Given the description of an element on the screen output the (x, y) to click on. 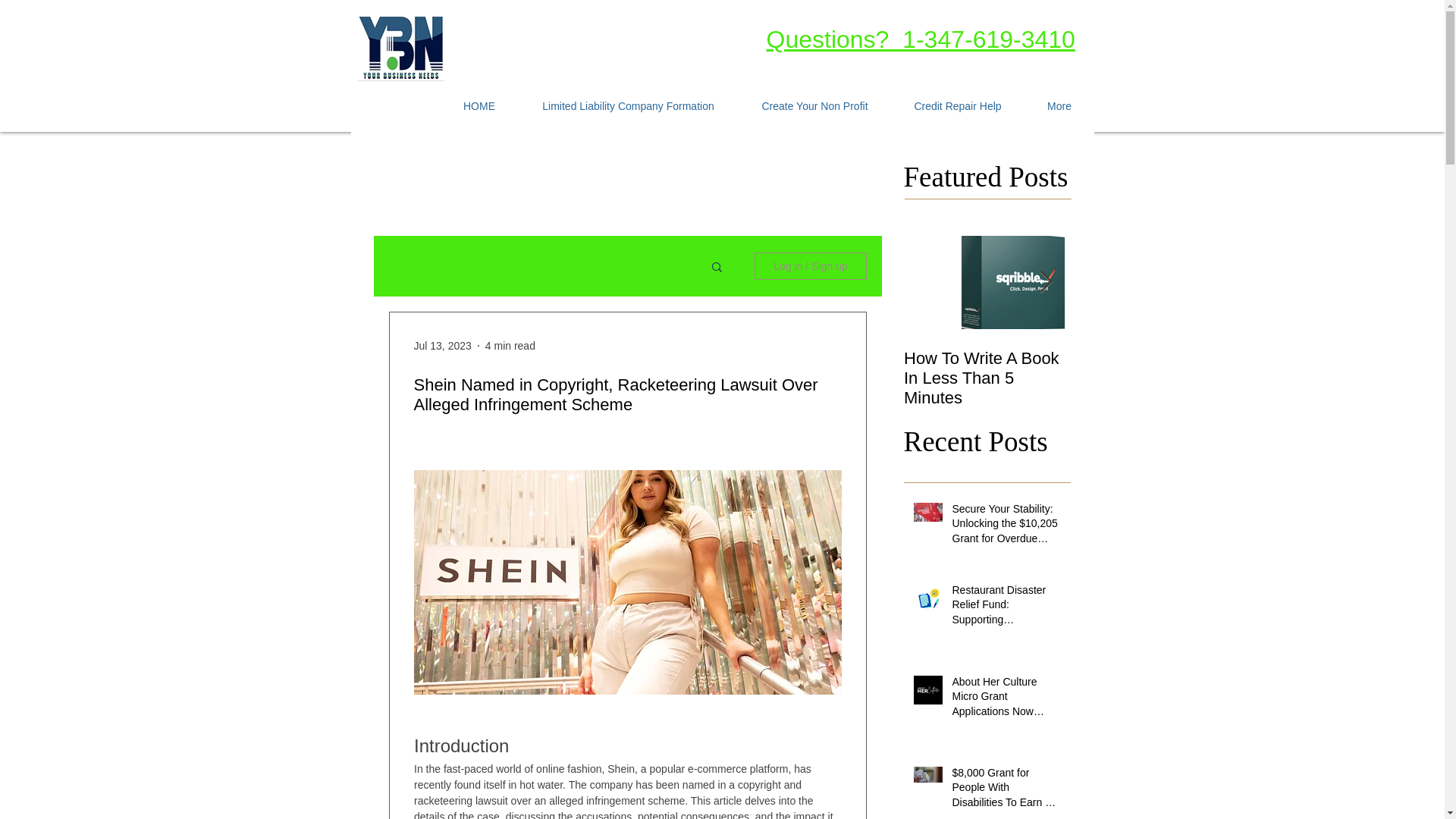
HOME (479, 105)
Limited Liability Company Formation (627, 105)
Community Outraged After Police Shoot 3 Children in the Head (1321, 377)
Credit Repair Help (957, 105)
How To Write A Book In Less Than 5 Minutes (987, 377)
Jul 13, 2023 (442, 345)
4 min read (509, 345)
Questions?  1-347-619-3410 (919, 39)
Create Your Non Profit (813, 105)
